Given the description of an element on the screen output the (x, y) to click on. 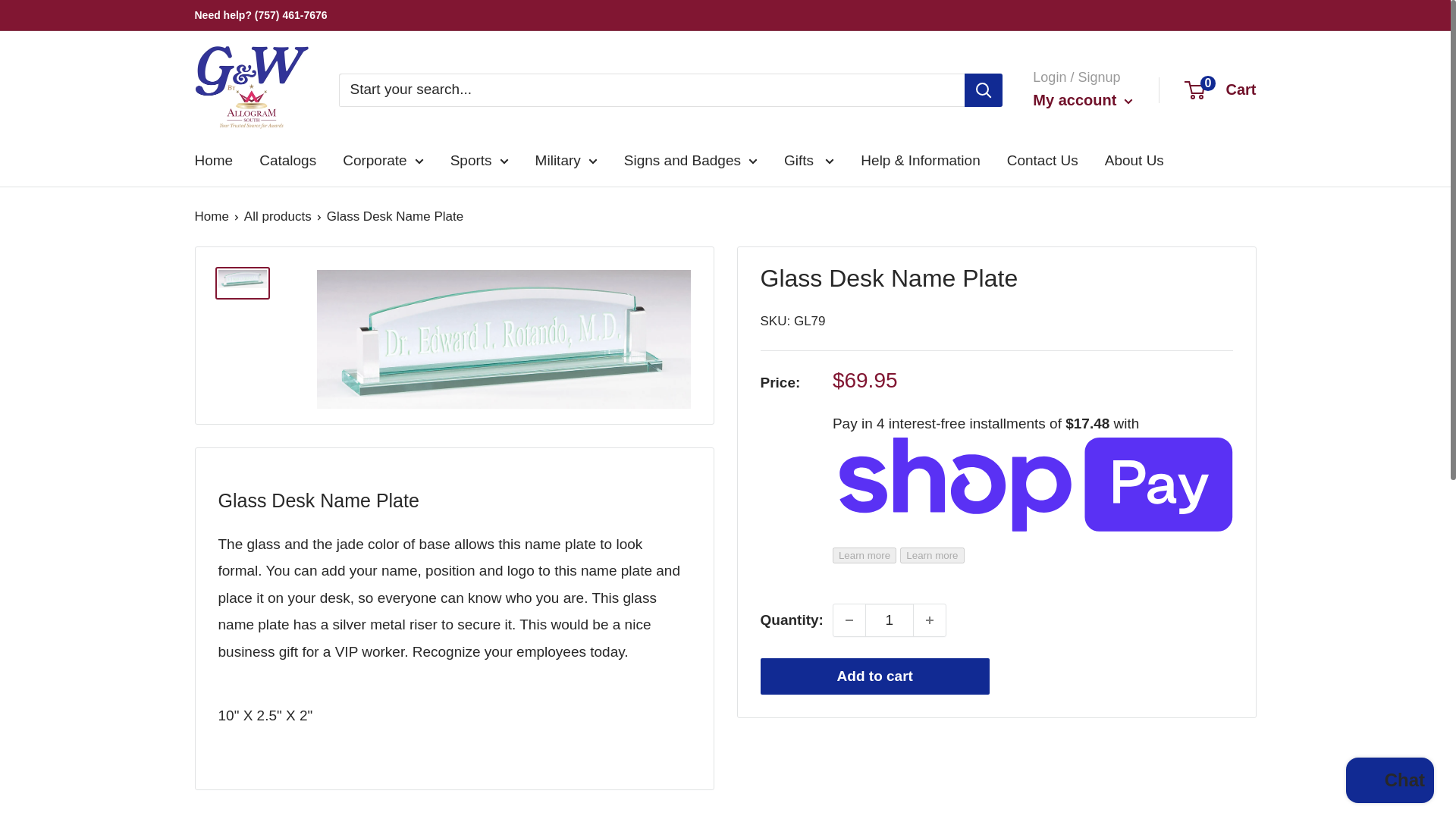
Shopify online store chat (1389, 781)
Decrease quantity by 1 (848, 620)
1 (889, 620)
Increase quantity by 1 (929, 620)
